Given the description of an element on the screen output the (x, y) to click on. 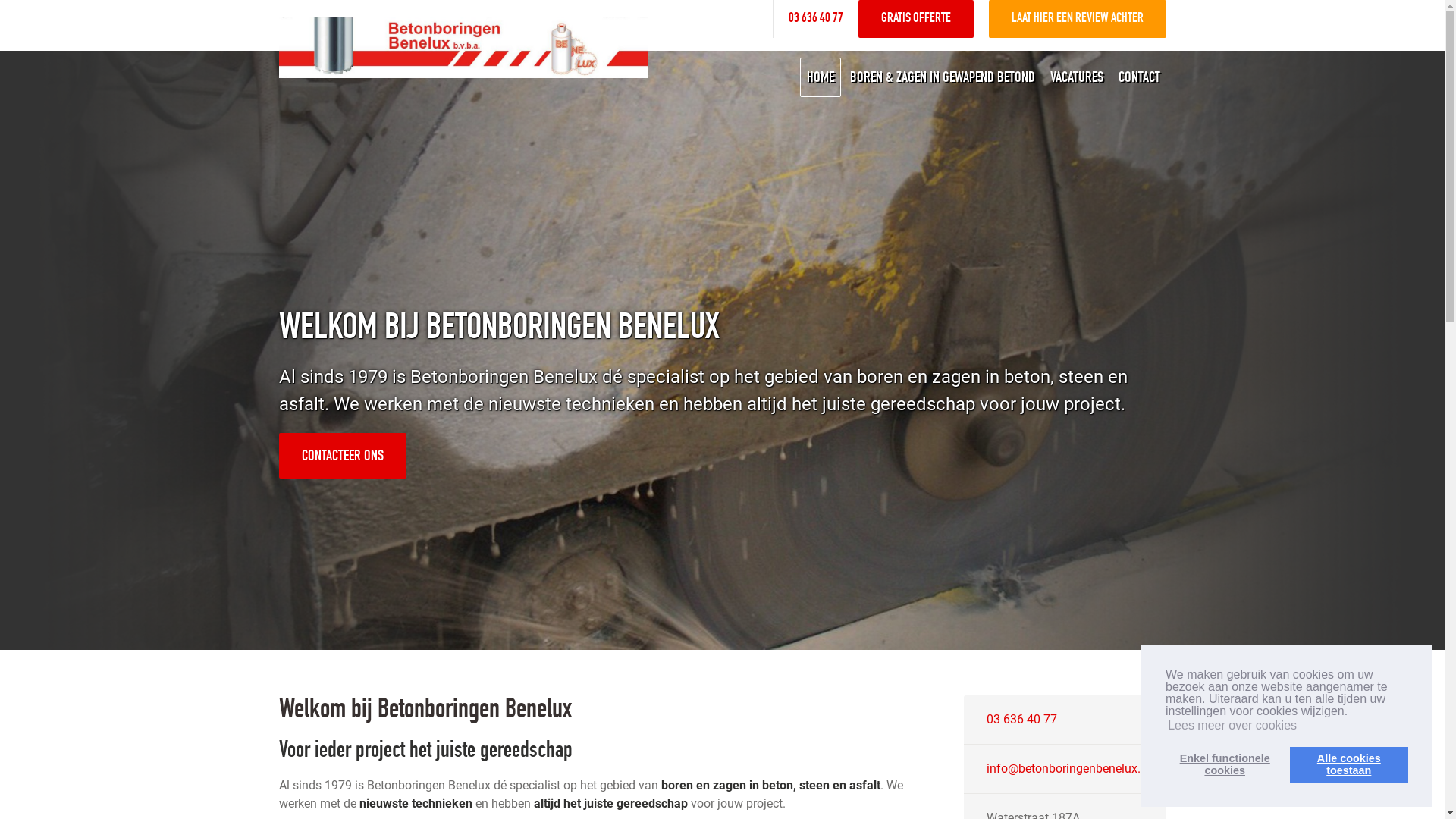
CONTACT Element type: text (1138, 77)
info@betonboringenbenelux.be Element type: text (1069, 768)
03 636 40 77 Element type: text (815, 18)
Alle cookies
toestaan Element type: text (1348, 764)
HOME Element type: text (819, 77)
GRATIS OFFERTE Element type: text (915, 18)
LAAT HIER EEN REVIEW ACHTER Element type: text (1077, 18)
VACATURES Element type: text (1075, 77)
Lees meer over cookies Element type: text (1232, 725)
BOREN & ZAGEN IN GEWAPEND BETOND Element type: text (941, 77)
Enkel functionele
cookies Element type: text (1224, 764)
03 636 40 77 Element type: text (1021, 719)
CONTACTEER ONS Element type: text (342, 455)
